Given the description of an element on the screen output the (x, y) to click on. 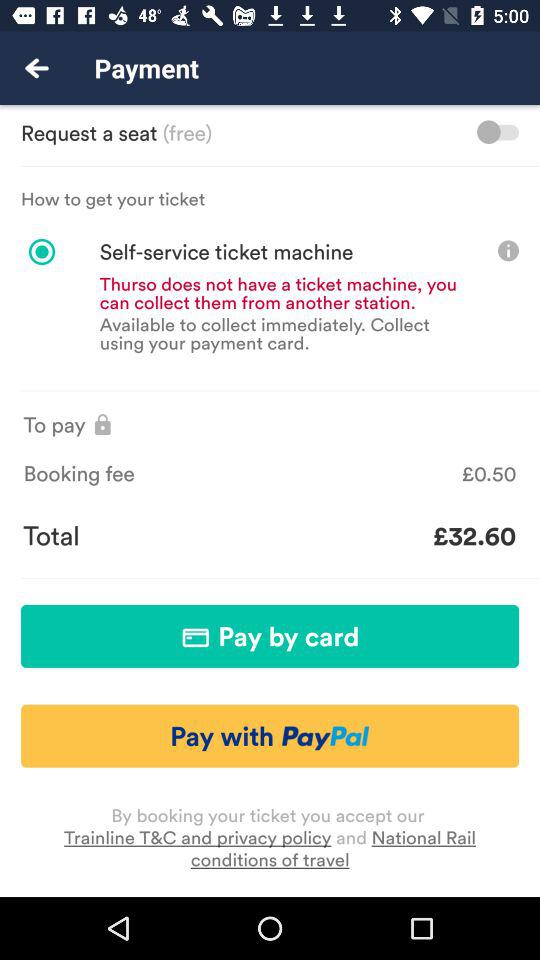
turn off the item next to the self service ticket (508, 250)
